Given the description of an element on the screen output the (x, y) to click on. 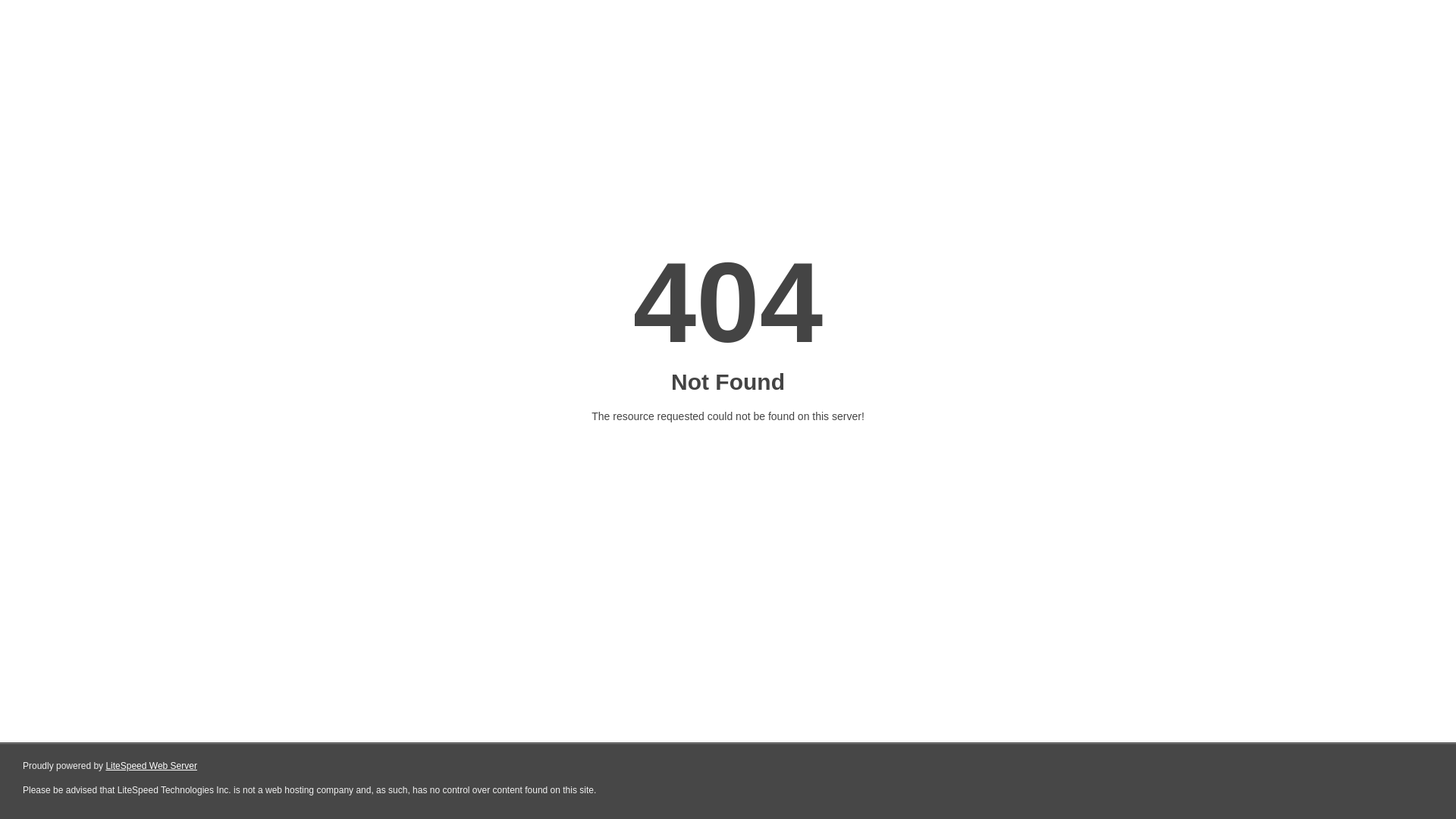
LiteSpeed Web Server Element type: text (151, 765)
